Given the description of an element on the screen output the (x, y) to click on. 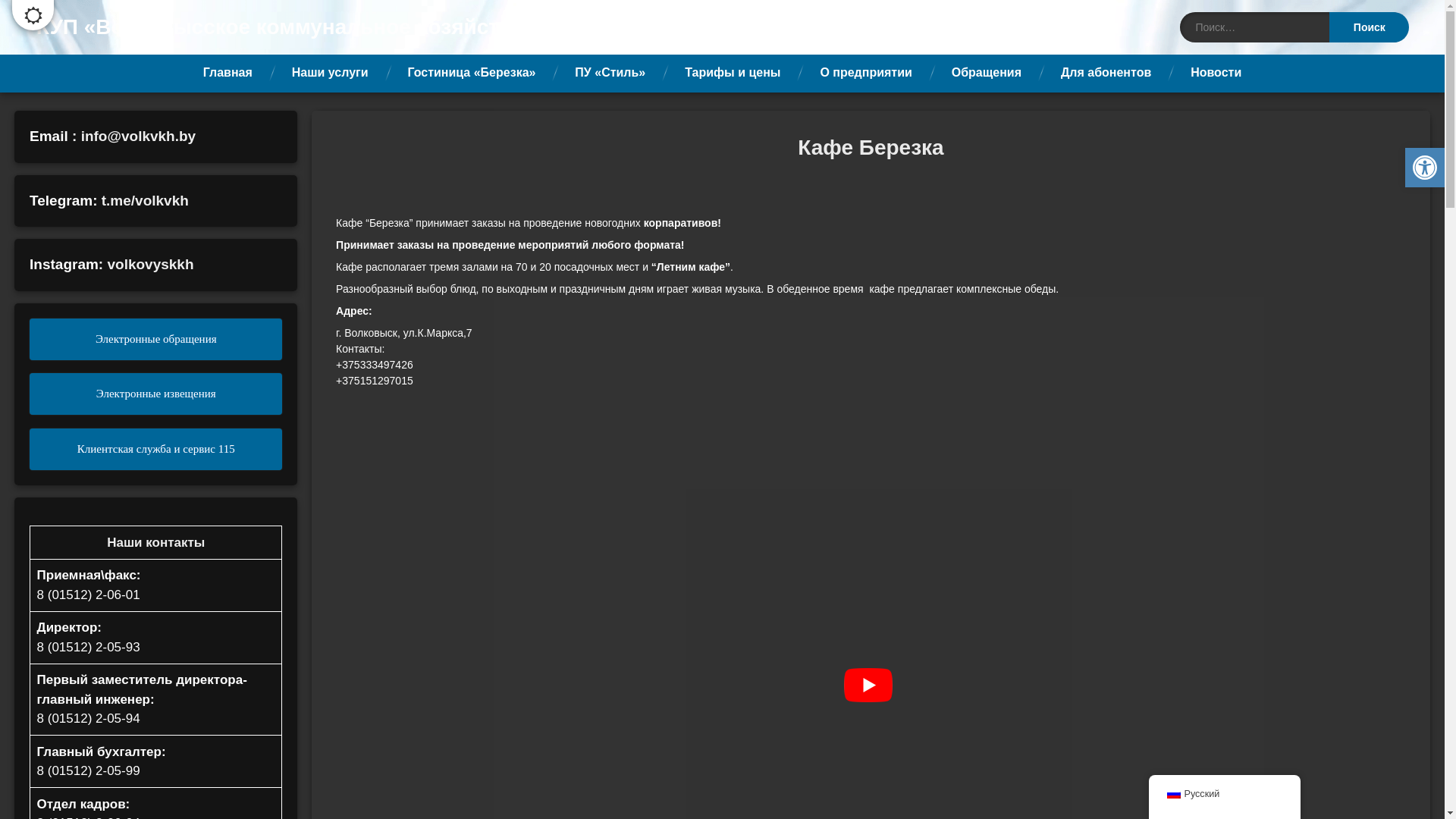
info@volkvkh.by Element type: text (138, 136)
volkovyskkh Element type: text (149, 264)
t.me/volkvkh Element type: text (144, 200)
